Given the description of an element on the screen output the (x, y) to click on. 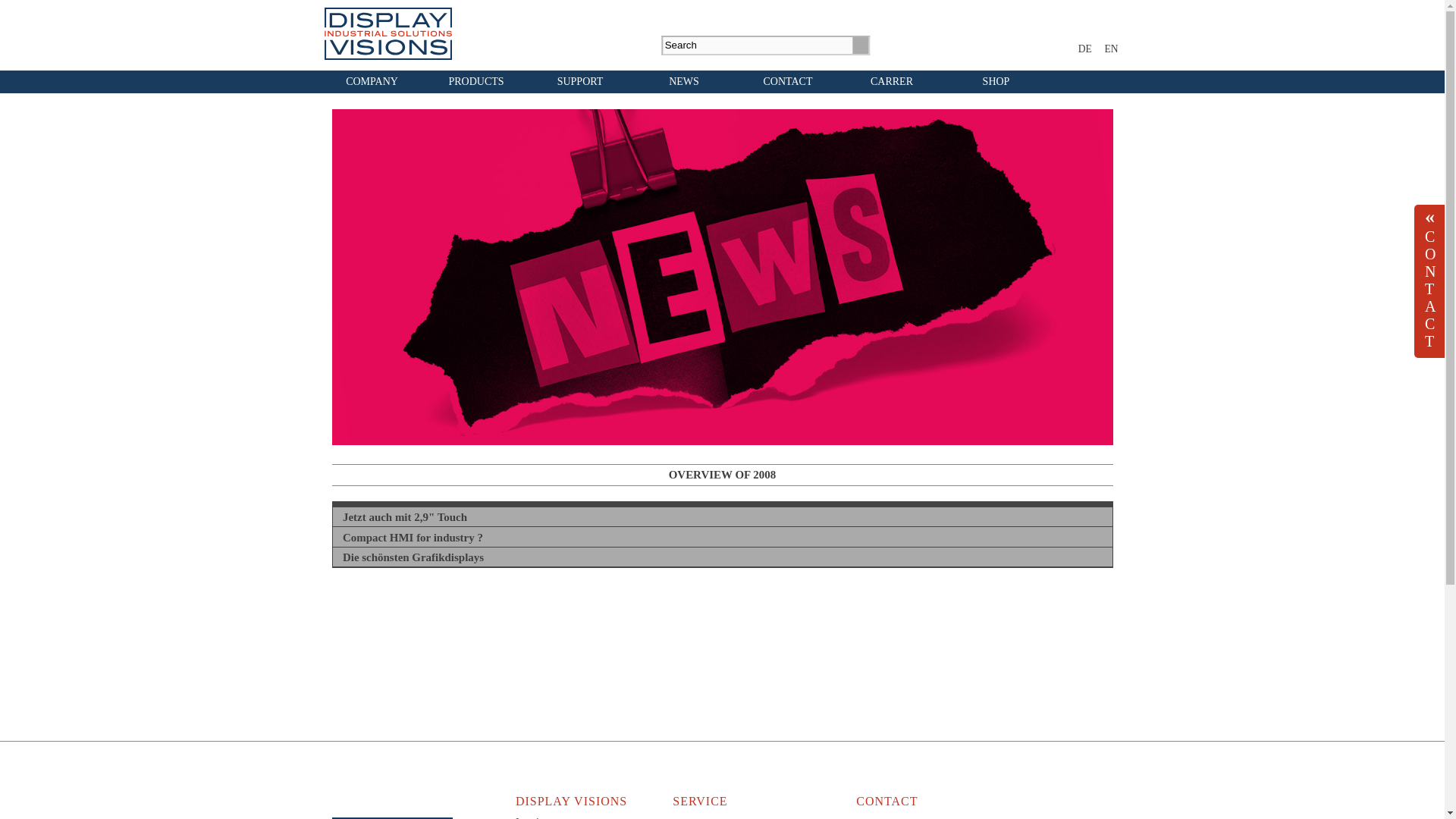
view these pages in English (1110, 48)
COMPANY (372, 81)
Search (859, 44)
DISPLAY VISIONS (387, 33)
Search (859, 44)
Search (859, 44)
SUPPORT (579, 81)
zur deutschen Seite (1085, 48)
DE (1085, 48)
EN (1110, 48)
PRODUCTS (476, 81)
NEWS (684, 81)
